Given the description of an element on the screen output the (x, y) to click on. 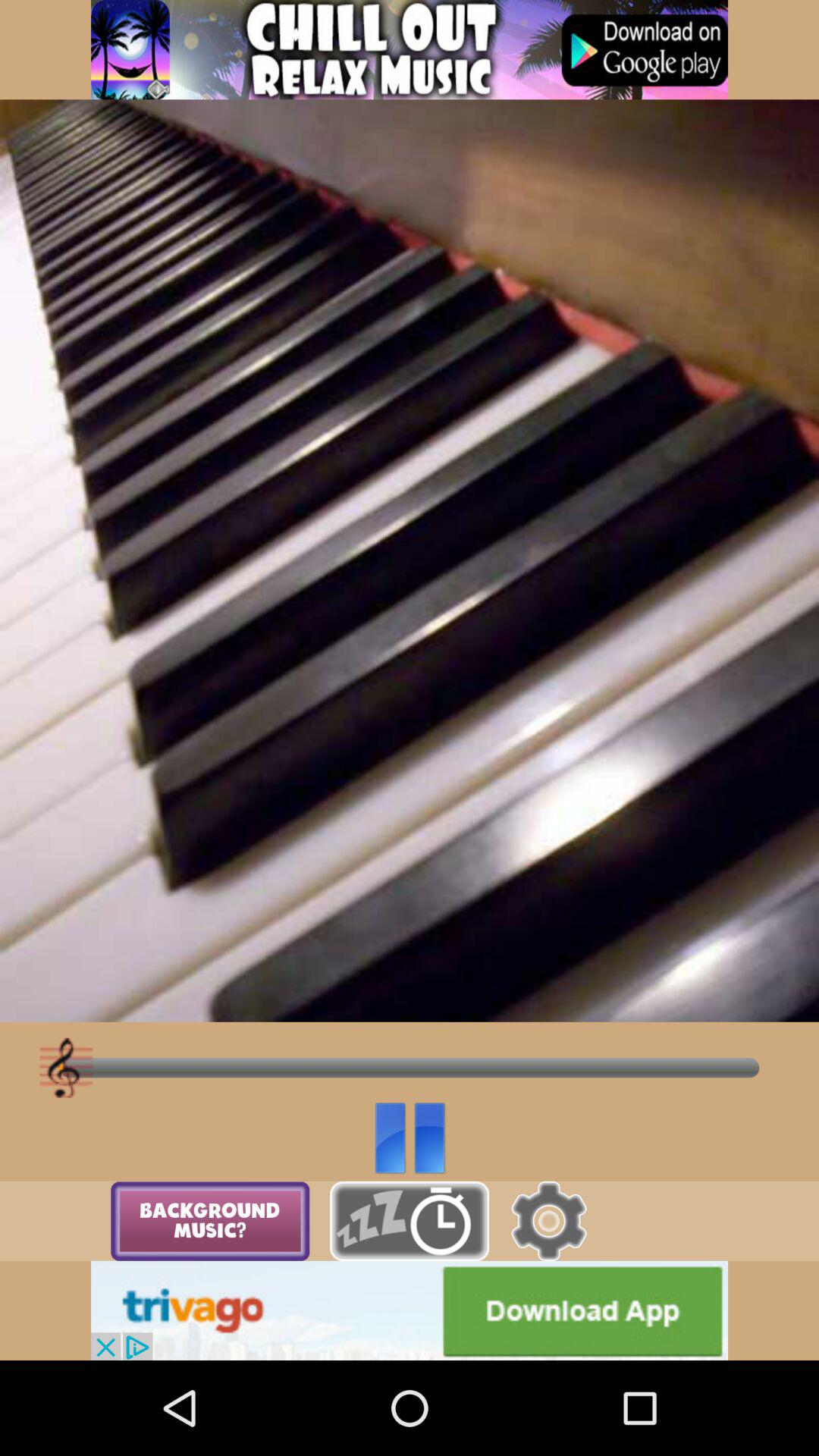
settings button (548, 1220)
